Given the description of an element on the screen output the (x, y) to click on. 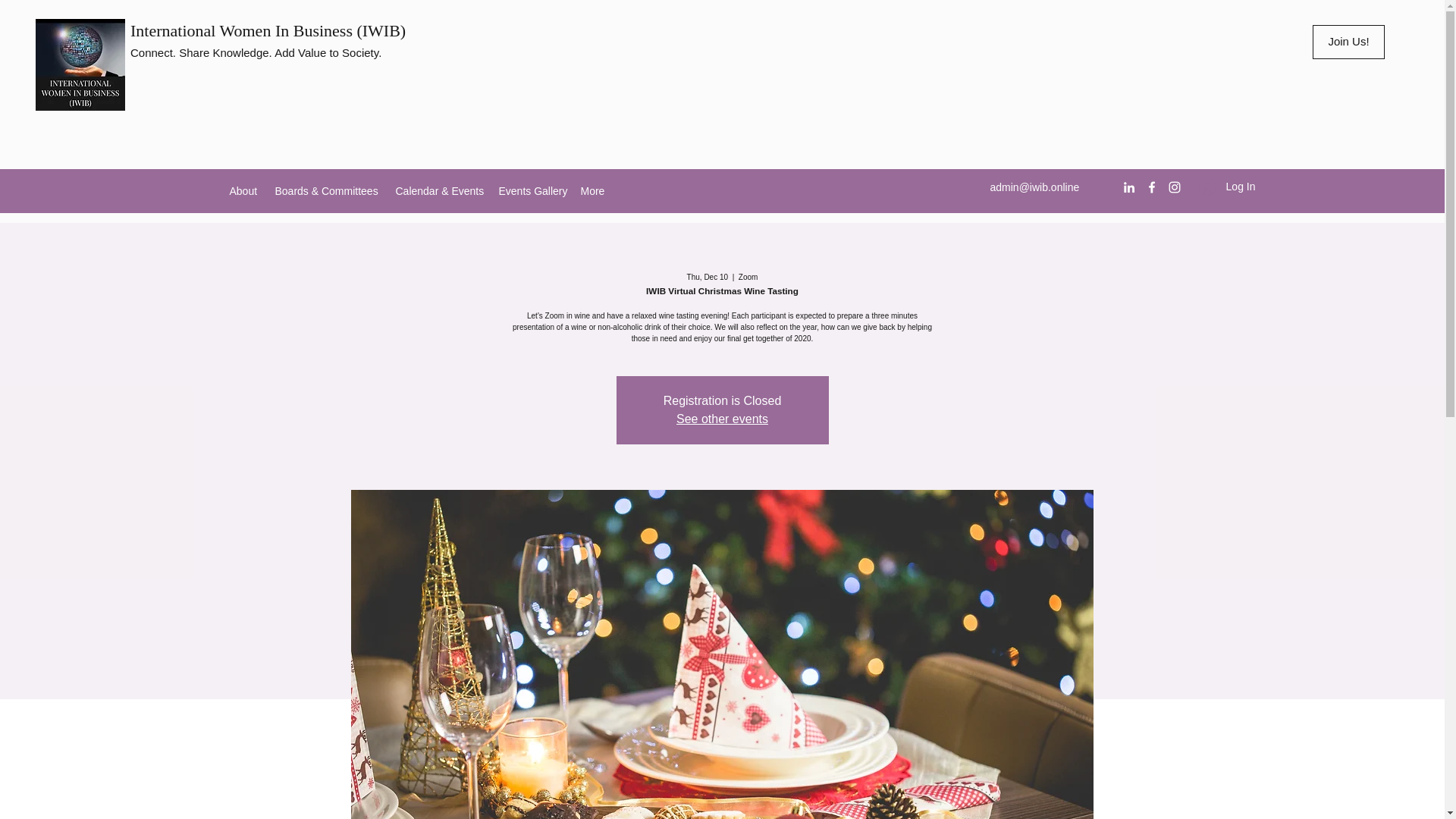
About (243, 190)
Events Gallery (532, 190)
Log In (1227, 186)
Join Us! (1348, 41)
See other events (722, 418)
